Given the description of an element on the screen output the (x, y) to click on. 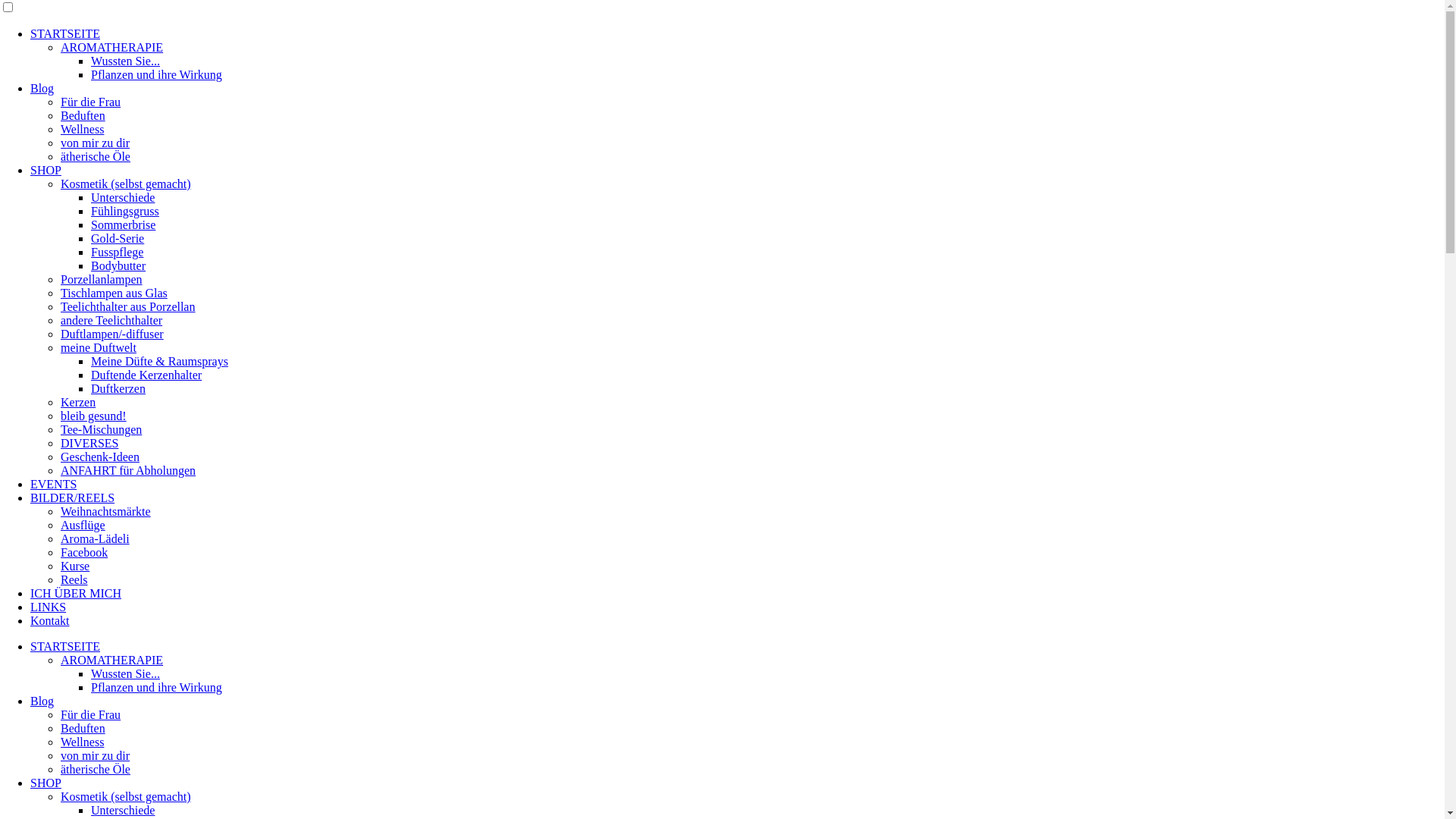
Wussten Sie... Element type: text (125, 673)
Teelichthalter aus Porzellan Element type: text (127, 306)
Kurse Element type: text (74, 565)
SHOP Element type: text (45, 782)
Sommerbrise Element type: text (123, 224)
AROMATHERAPIE Element type: text (111, 46)
Unterschiede Element type: text (122, 809)
SHOP Element type: text (45, 169)
STARTSEITE Element type: text (65, 646)
Gold-Serie Element type: text (117, 238)
Tischlampen aus Glas Element type: text (113, 292)
Beduften Element type: text (82, 727)
Wellness Element type: text (81, 741)
Duftlampen/-diffuser Element type: text (111, 333)
Beduften Element type: text (82, 115)
LINKS Element type: text (47, 606)
andere Teelichthalter Element type: text (111, 319)
DIVERSES Element type: text (89, 442)
Unterschiede Element type: text (122, 197)
Kosmetik (selbst gemacht) Element type: text (125, 796)
BILDER/REELS Element type: text (72, 497)
Facebook Element type: text (83, 552)
Duftende Kerzenhalter Element type: text (146, 374)
von mir zu dir Element type: text (94, 755)
Blog Element type: text (41, 87)
von mir zu dir Element type: text (94, 142)
EVENTS Element type: text (53, 483)
Blog Element type: text (41, 700)
AROMATHERAPIE Element type: text (111, 659)
Kosmetik (selbst gemacht) Element type: text (125, 183)
STARTSEITE Element type: text (65, 33)
Kerzen Element type: text (77, 401)
bleib gesund! Element type: text (93, 415)
Duftkerzen Element type: text (118, 388)
Wellness Element type: text (81, 128)
Reels Element type: text (73, 579)
Porzellanlampen Element type: text (101, 279)
meine Duftwelt Element type: text (98, 347)
Wussten Sie... Element type: text (125, 60)
Pflanzen und ihre Wirkung Element type: text (156, 74)
Geschenk-Ideen Element type: text (99, 456)
Fusspflege Element type: text (117, 251)
Bodybutter Element type: text (118, 265)
Kontakt Element type: text (49, 620)
Tee-Mischungen Element type: text (100, 429)
Pflanzen und ihre Wirkung Element type: text (156, 686)
